Given the description of an element on the screen output the (x, y) to click on. 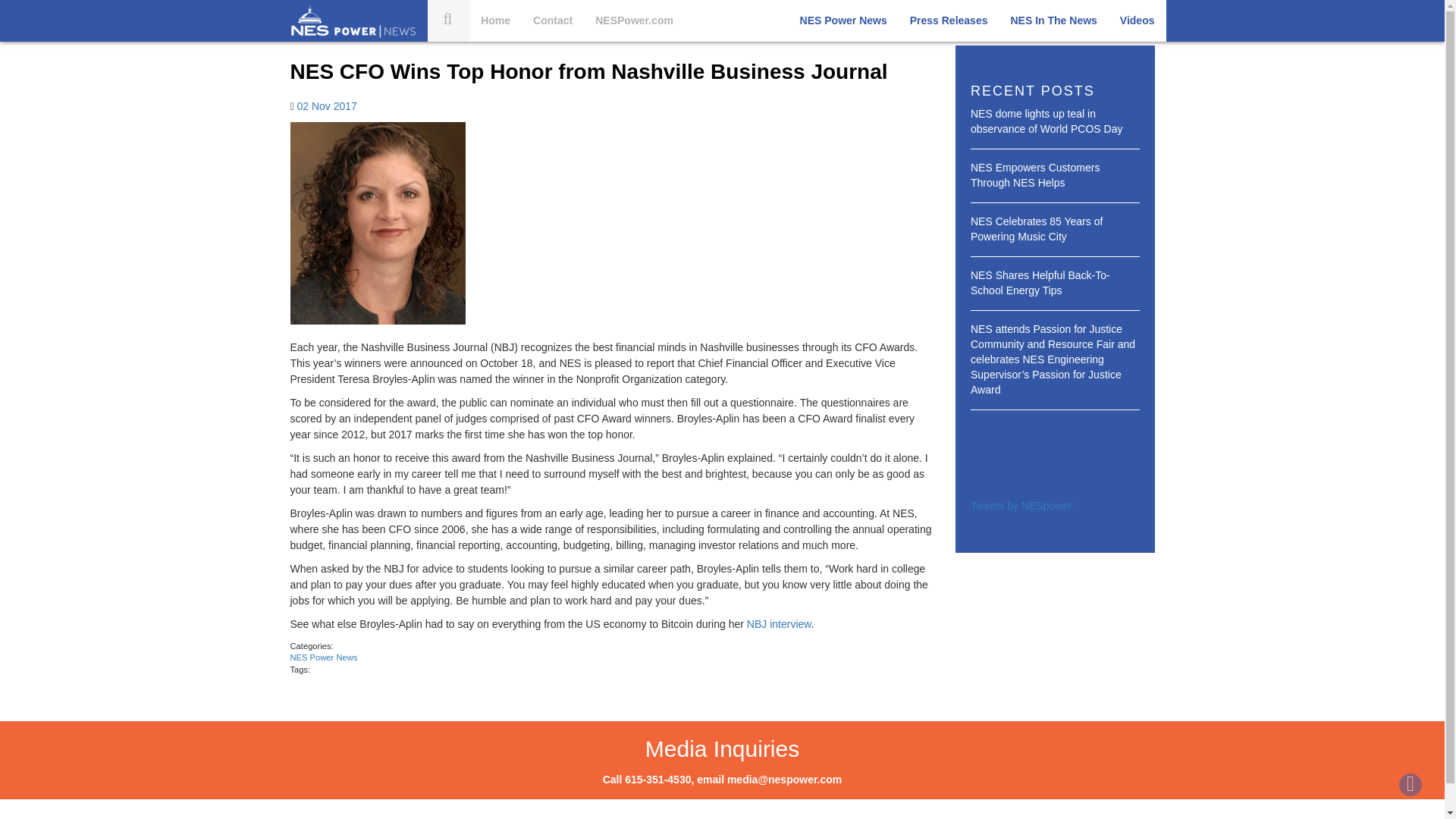
Contact (552, 20)
NES Empowers Customers Through NES Helps  (1035, 175)
NESPower.com (633, 20)
NES Shares Helpful Back-To-School Energy Tips (1040, 282)
Press Releases (948, 20)
NES In The News (1053, 20)
NES Celebrates 85 Years of Powering Music City (1036, 228)
NESPower.com (633, 20)
Home (494, 20)
NES In The News (1053, 20)
